Given the description of an element on the screen output the (x, y) to click on. 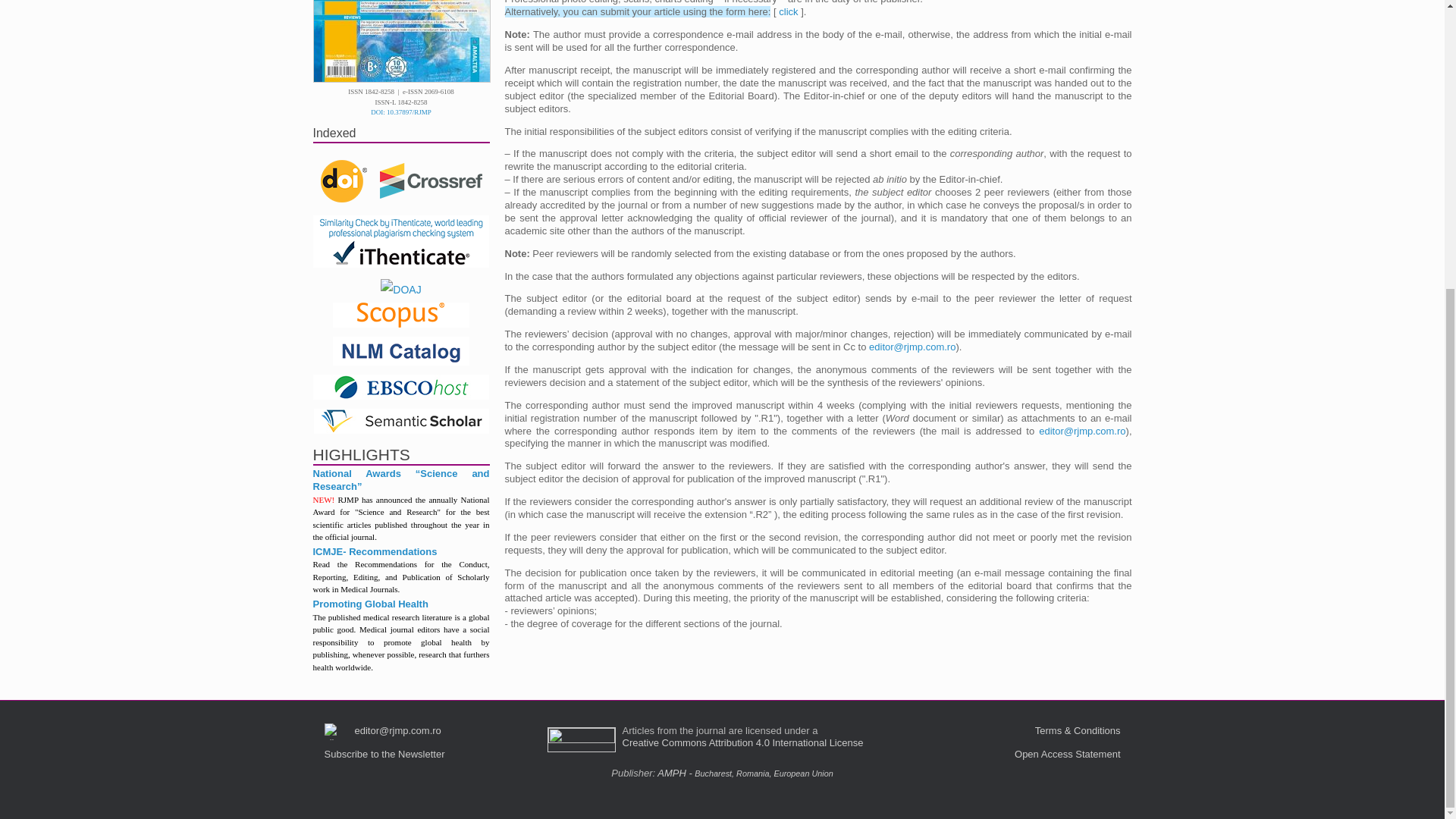
click (787, 11)
Subscribe to the Newsletter (384, 754)
ICMJE- Recommendations (374, 551)
Promoting Global Health (370, 603)
